Given the description of an element on the screen output the (x, y) to click on. 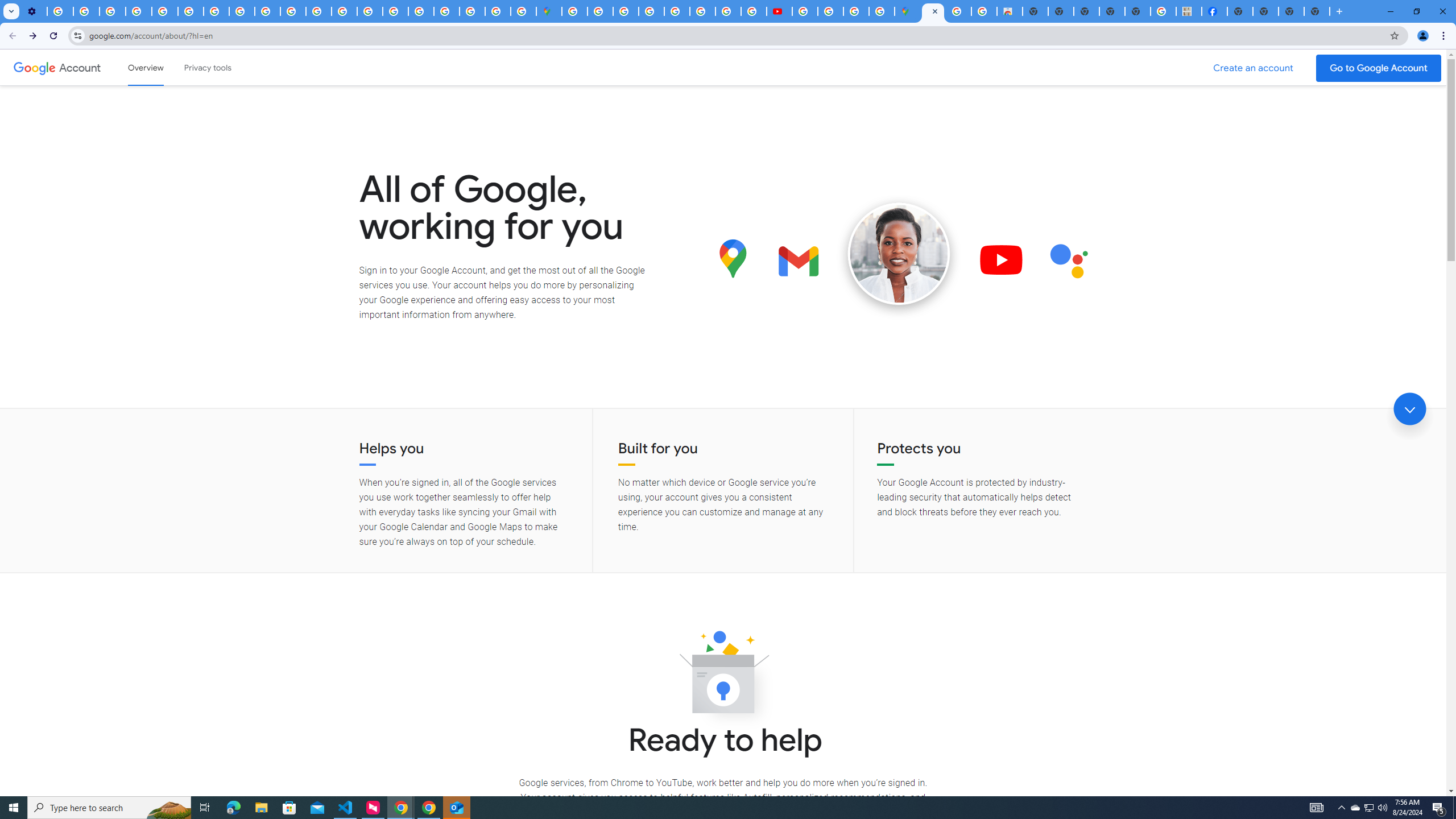
Go to your Google Account (1378, 67)
Google Maps (548, 11)
Miley Cyrus | Facebook (1213, 11)
Google Account (80, 67)
Privacy tools (207, 67)
